Given the description of an element on the screen output the (x, y) to click on. 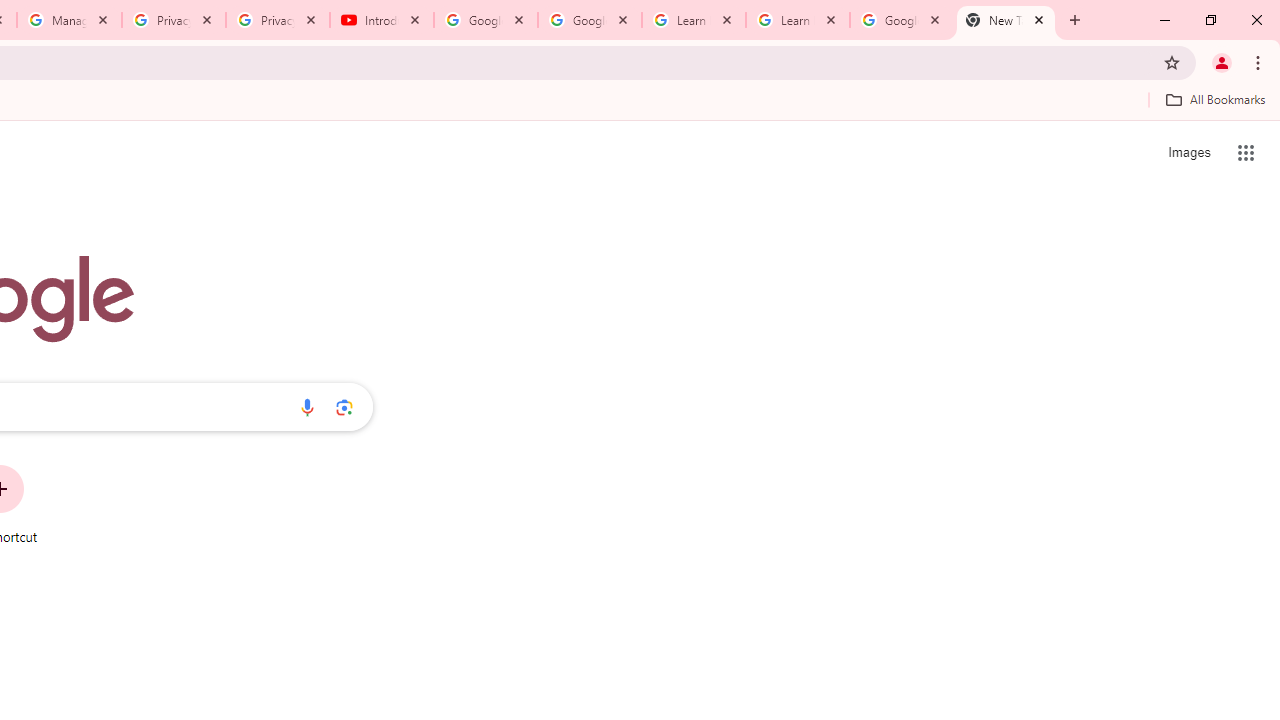
Google Account (901, 20)
New Tab (1005, 20)
All Bookmarks (1215, 99)
Search by voice (307, 407)
Google Account Help (589, 20)
Search for Images  (1188, 152)
Introduction | Google Privacy Policy - YouTube (381, 20)
